Given the description of an element on the screen output the (x, y) to click on. 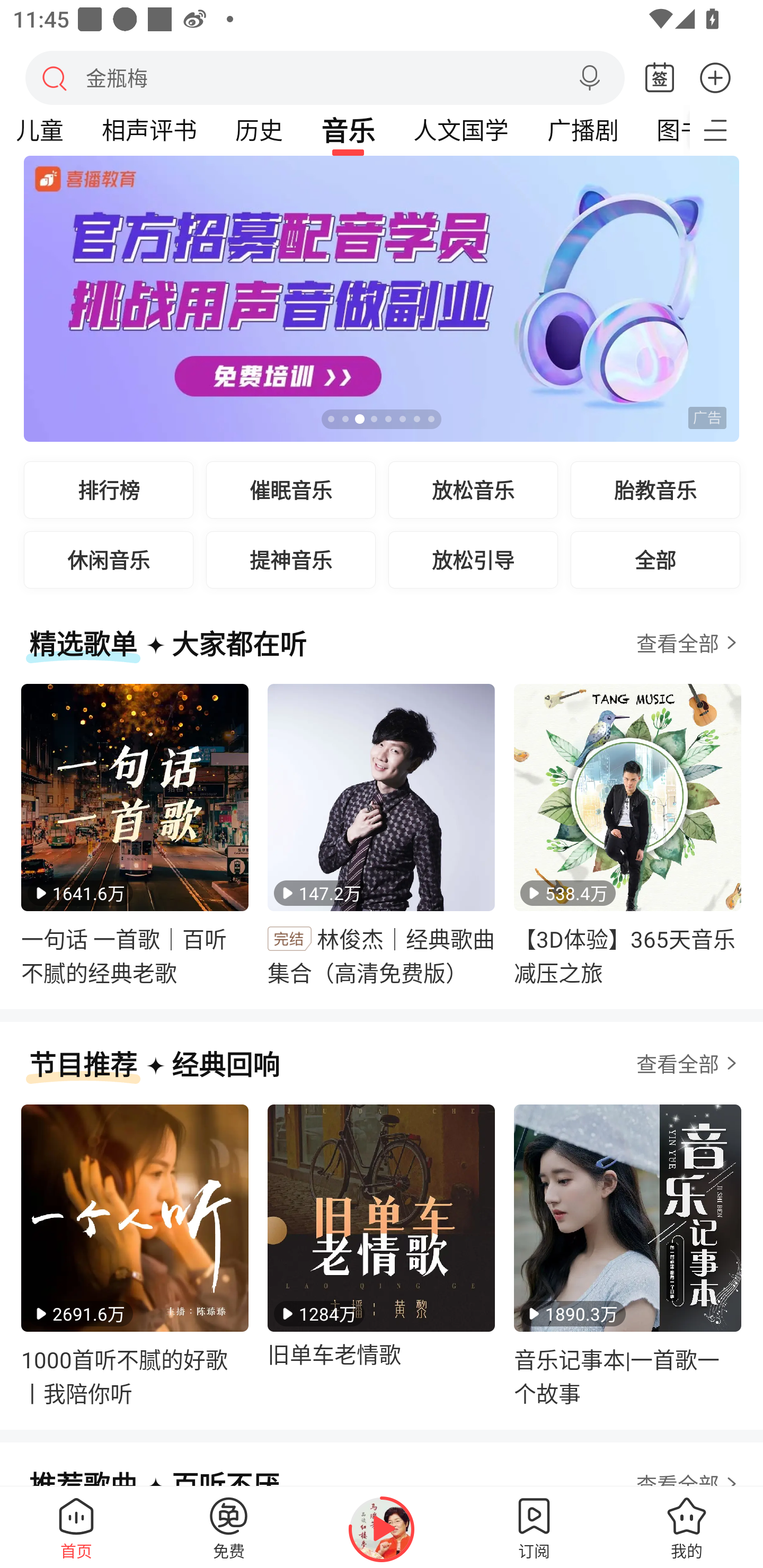
搜索 金瓶梅 语音搜索 (324, 77)
更多 (714, 77)
签到 (659, 78)
语音搜索 (589, 78)
儿童 (44, 130)
相声评书 (148, 130)
历史 (258, 130)
音乐 (348, 130)
人文国学 (460, 130)
广播剧 (582, 130)
更多频道 (726, 130)
急招500名配音爱好者 (381, 298)
排行榜 (108, 489)
催眠音乐 (290, 489)
放松音乐 (473, 489)
胎教音乐 (655, 489)
休闲音乐 (108, 559)
提神音乐 (290, 559)
放松引导 (473, 559)
全部 (655, 559)
精选歌单 大家都在听 查看全部 (381, 652)
查看全部 (688, 642)
1641.6万 一句话 一首歌｜百听不腻的经典老歌 (134, 835)
147.2万   林俊杰｜经典歌曲集合（高清免费版） (381, 835)
538.4万 【3D体验】365天音乐减压之旅 (627, 835)
节目推荐 经典回响 查看全部 (381, 1072)
查看全部 (688, 1062)
2691.6万 1000首听不腻的好歌丨我陪你听 (134, 1255)
1284万 旧单车老情歌 (381, 1255)
1890.3万 音乐记事本|一首歌一个故事 (627, 1255)
首页 (76, 1526)
免费 (228, 1526)
订阅 (533, 1526)
我的 (686, 1526)
继续播放【发刊词】从青丝到白发，为什么读《红楼梦》 (381, 1529)
